Given the description of an element on the screen output the (x, y) to click on. 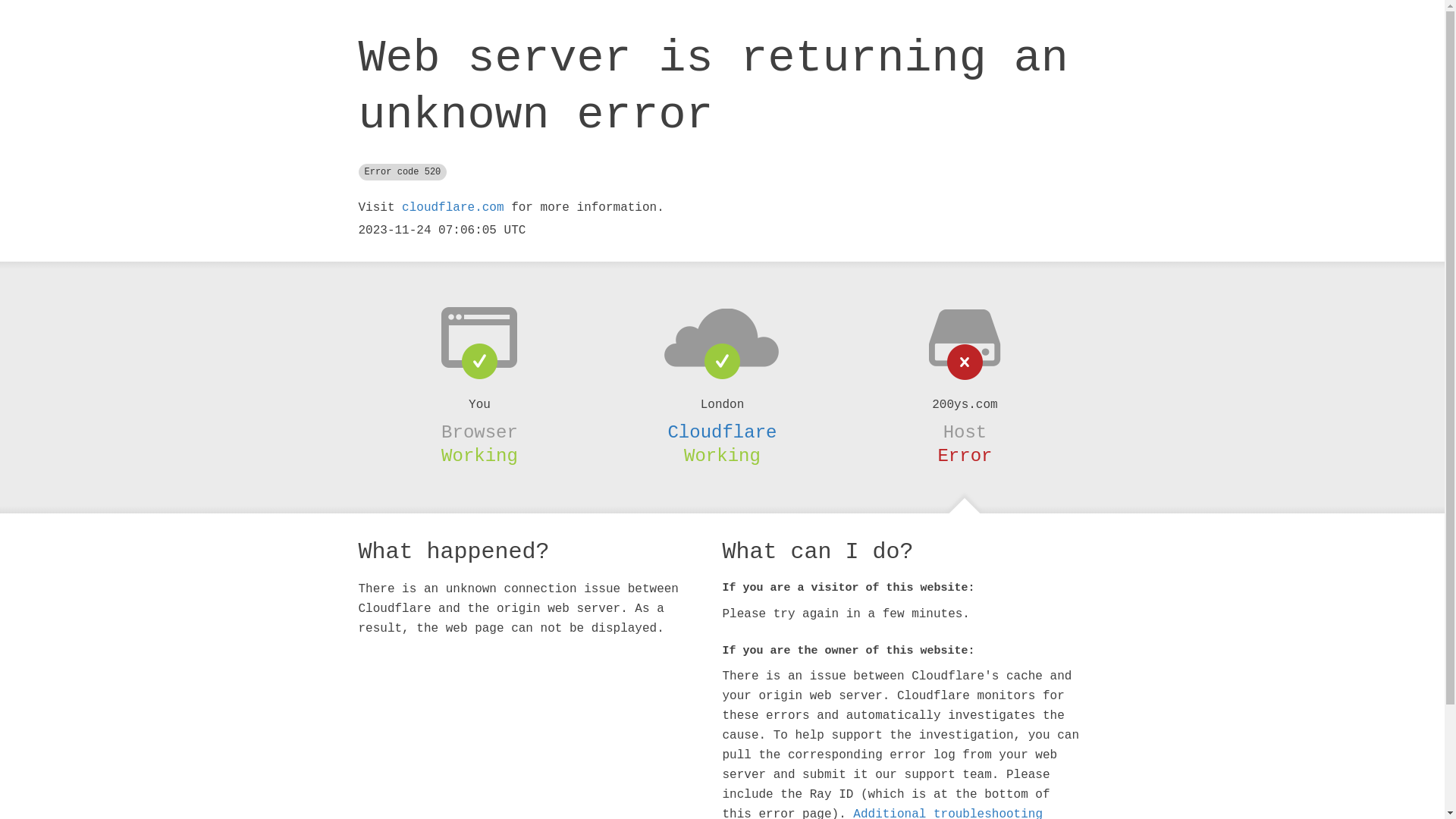
cloudflare.com Element type: text (452, 207)
Cloudflare Element type: text (721, 432)
